Given the description of an element on the screen output the (x, y) to click on. 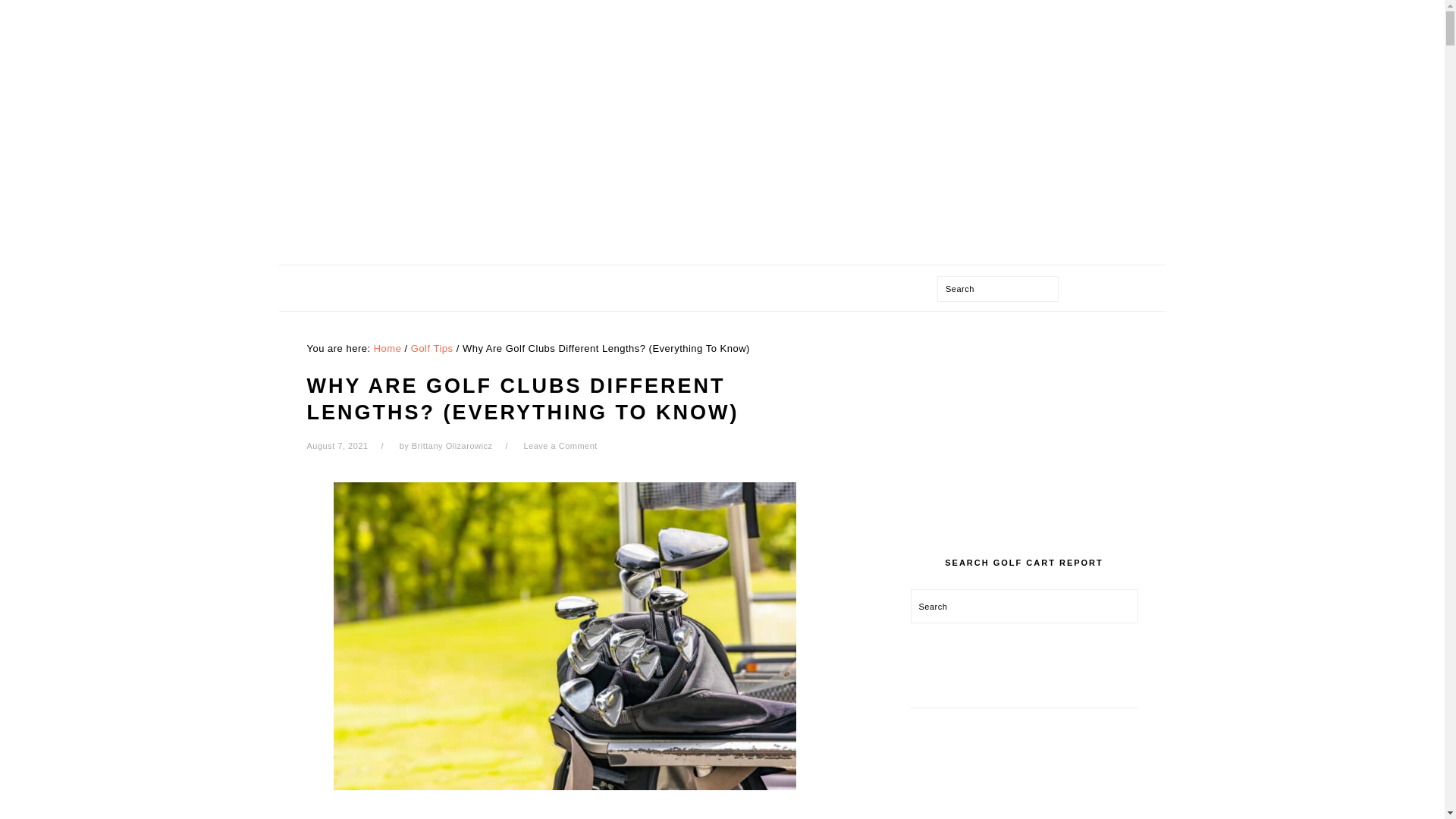
FIND A DEALER (761, 288)
GOLF CART REPORT (721, 127)
GOLF TIPS (868, 288)
Golf Tips (431, 348)
HOME (418, 288)
Brittany Olizarowicz (452, 445)
BEGINNER INFO (638, 288)
Home (387, 348)
